Given the description of an element on the screen output the (x, y) to click on. 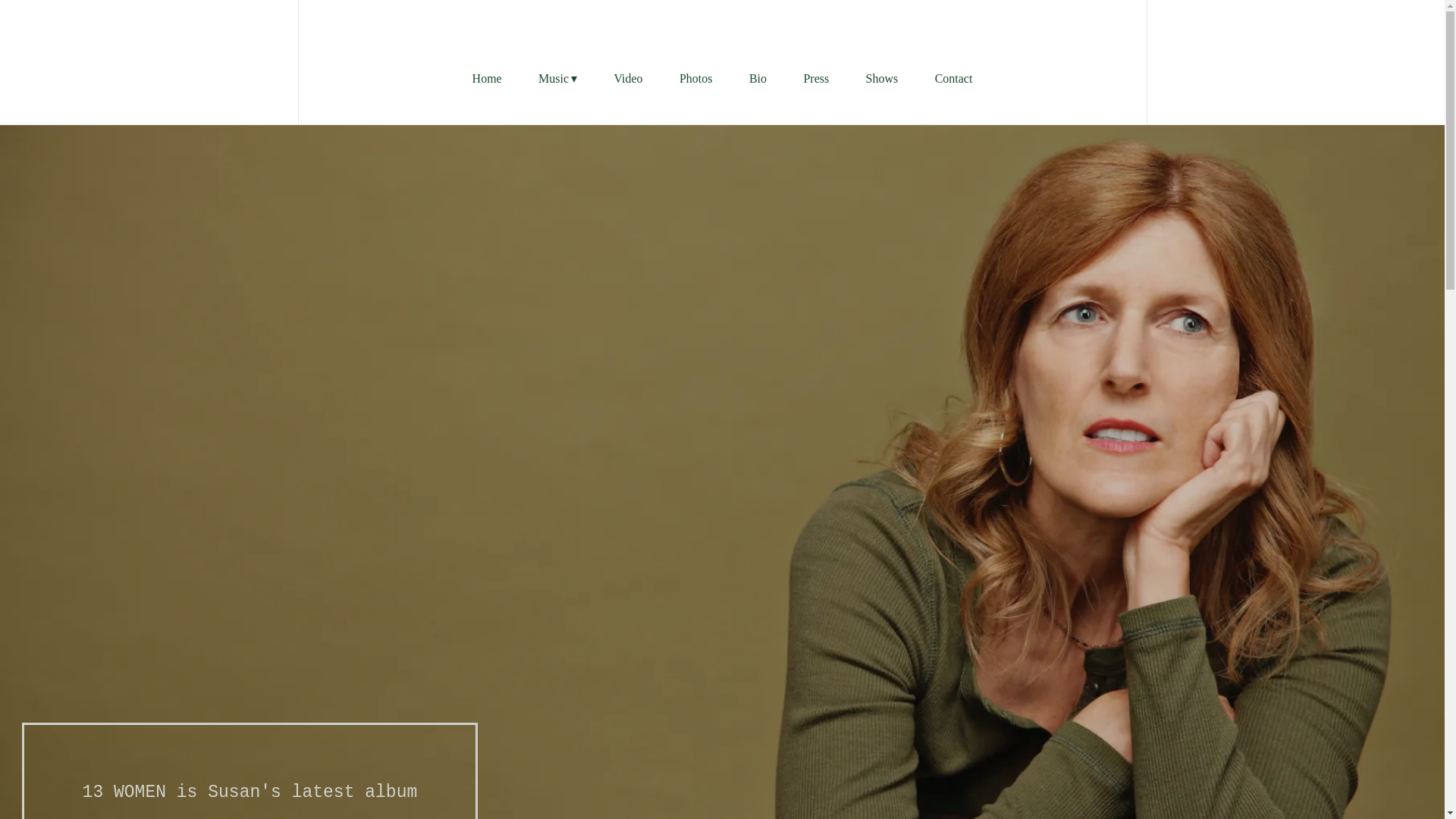
Contact (953, 78)
Press (815, 78)
Shows (882, 78)
Video (627, 78)
Bio (758, 78)
Home (486, 78)
Photos (696, 78)
Music (557, 78)
